Given the description of an element on the screen output the (x, y) to click on. 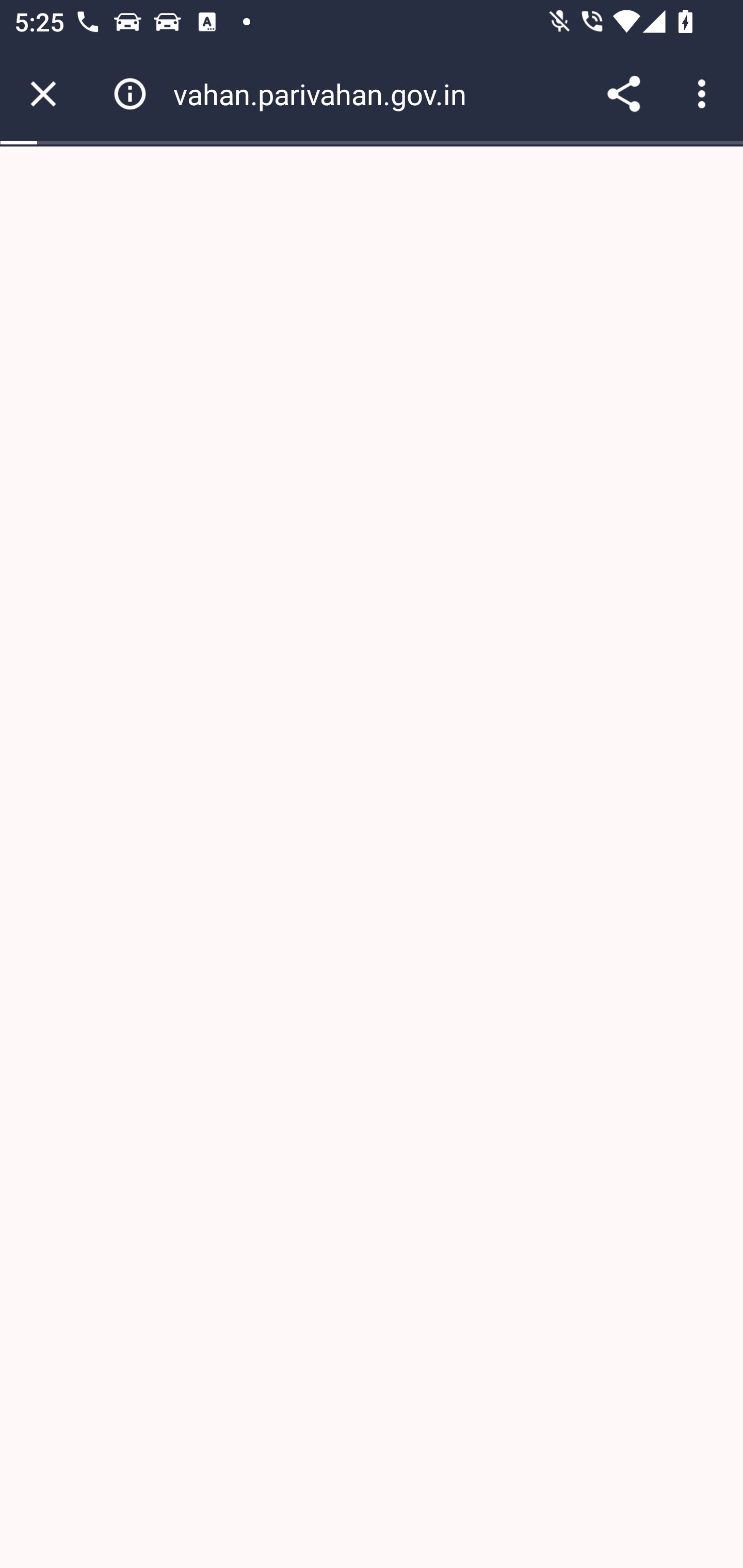
Close tab (43, 93)
Share (623, 93)
Customize and control Google Chrome (705, 93)
Your connection to this site is not secure (129, 93)
vahan.parivahan.gov.in (326, 93)
